Given the description of an element on the screen output the (x, y) to click on. 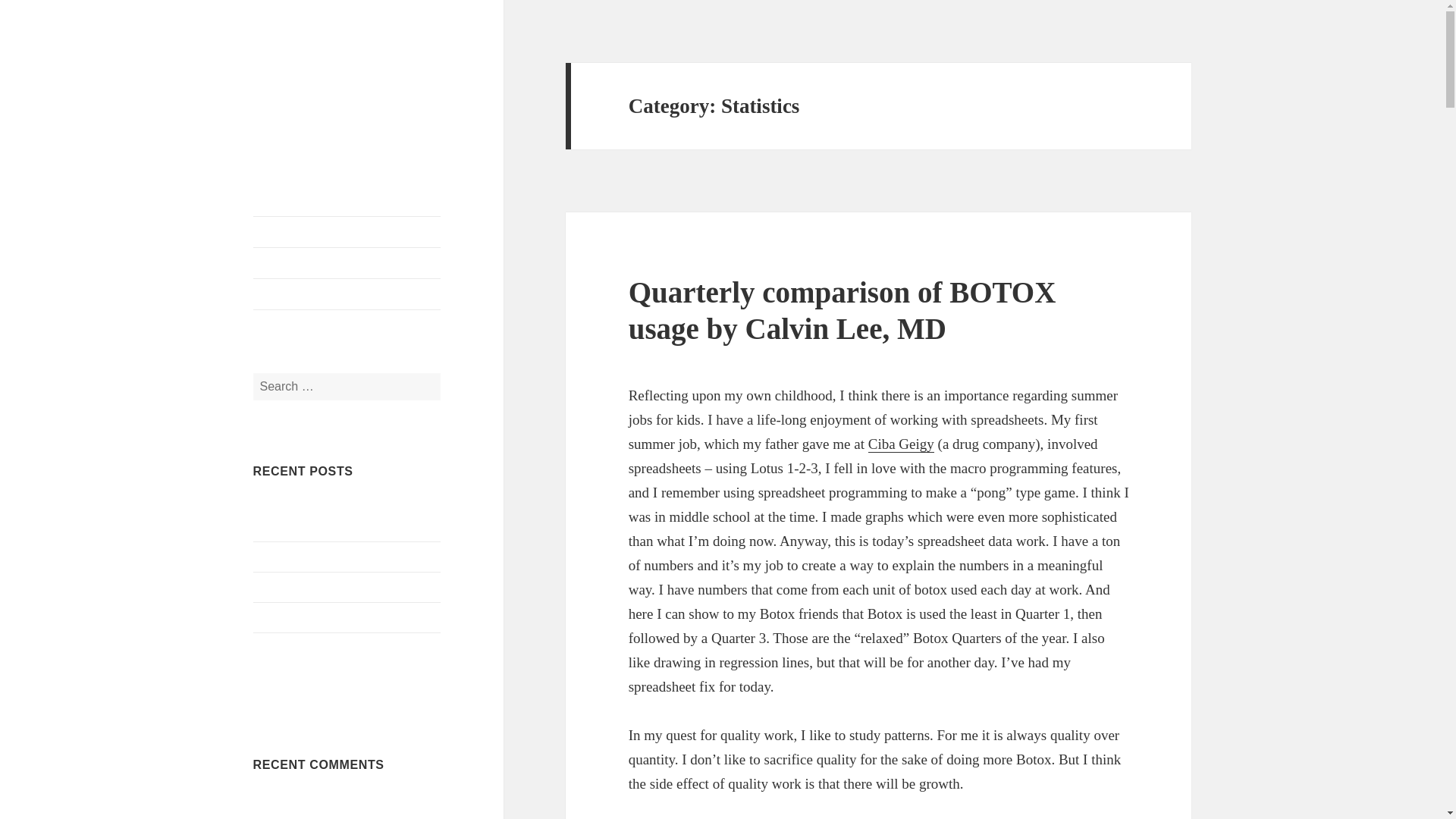
Cellfina Info Sheet (299, 555)
Modesto Botox Current Topics (347, 263)
Modesto Botox Surgeon (347, 232)
Kybella Shortage (295, 585)
Pre 2015 Botox Blog (347, 294)
Modesto Botox, Dr. Calvin Lee (346, 86)
Lip filler experience (302, 616)
